Given the description of an element on the screen output the (x, y) to click on. 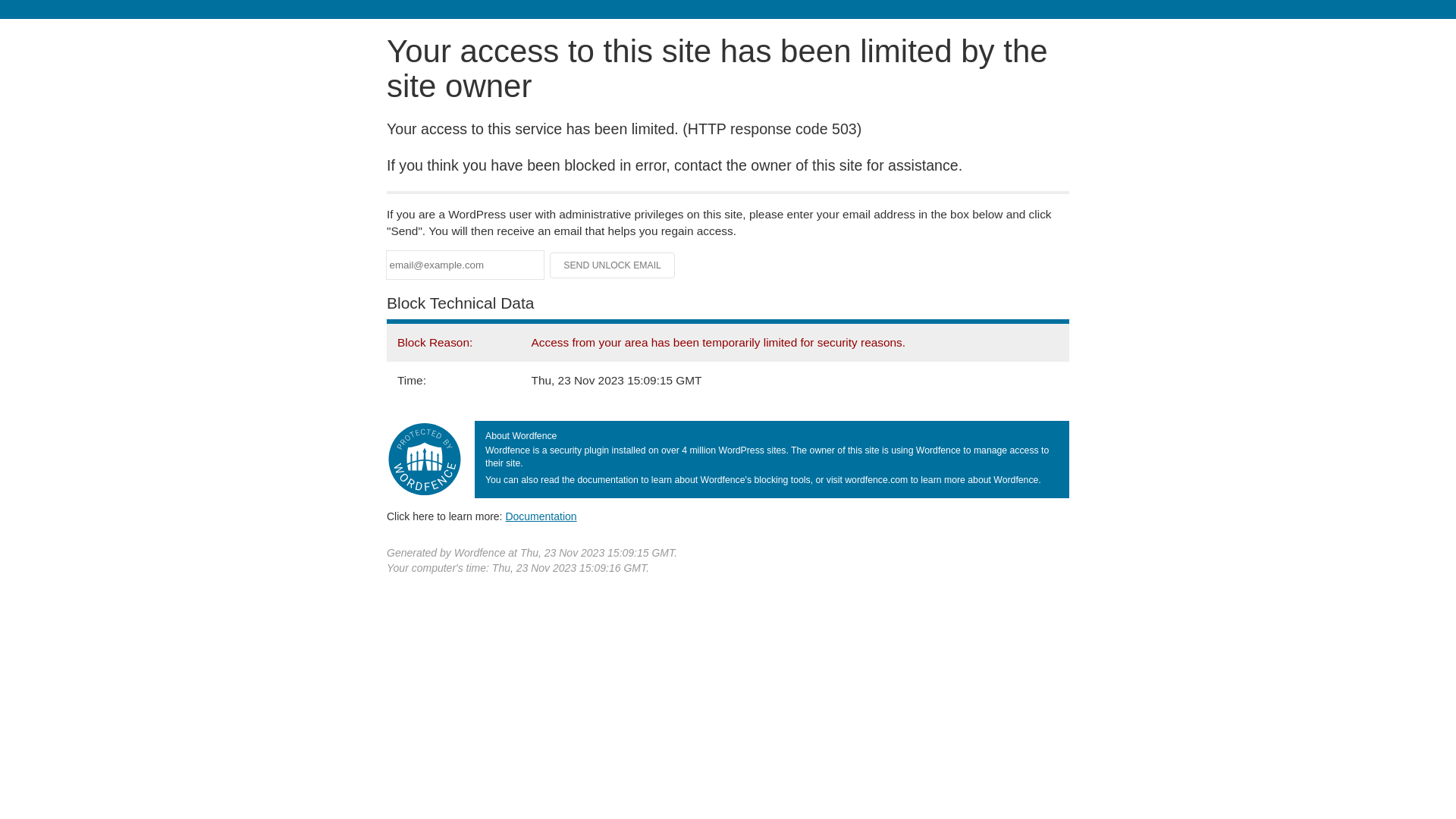
Documentation Element type: text (540, 516)
Send Unlock Email Element type: text (612, 265)
